Given the description of an element on the screen output the (x, y) to click on. 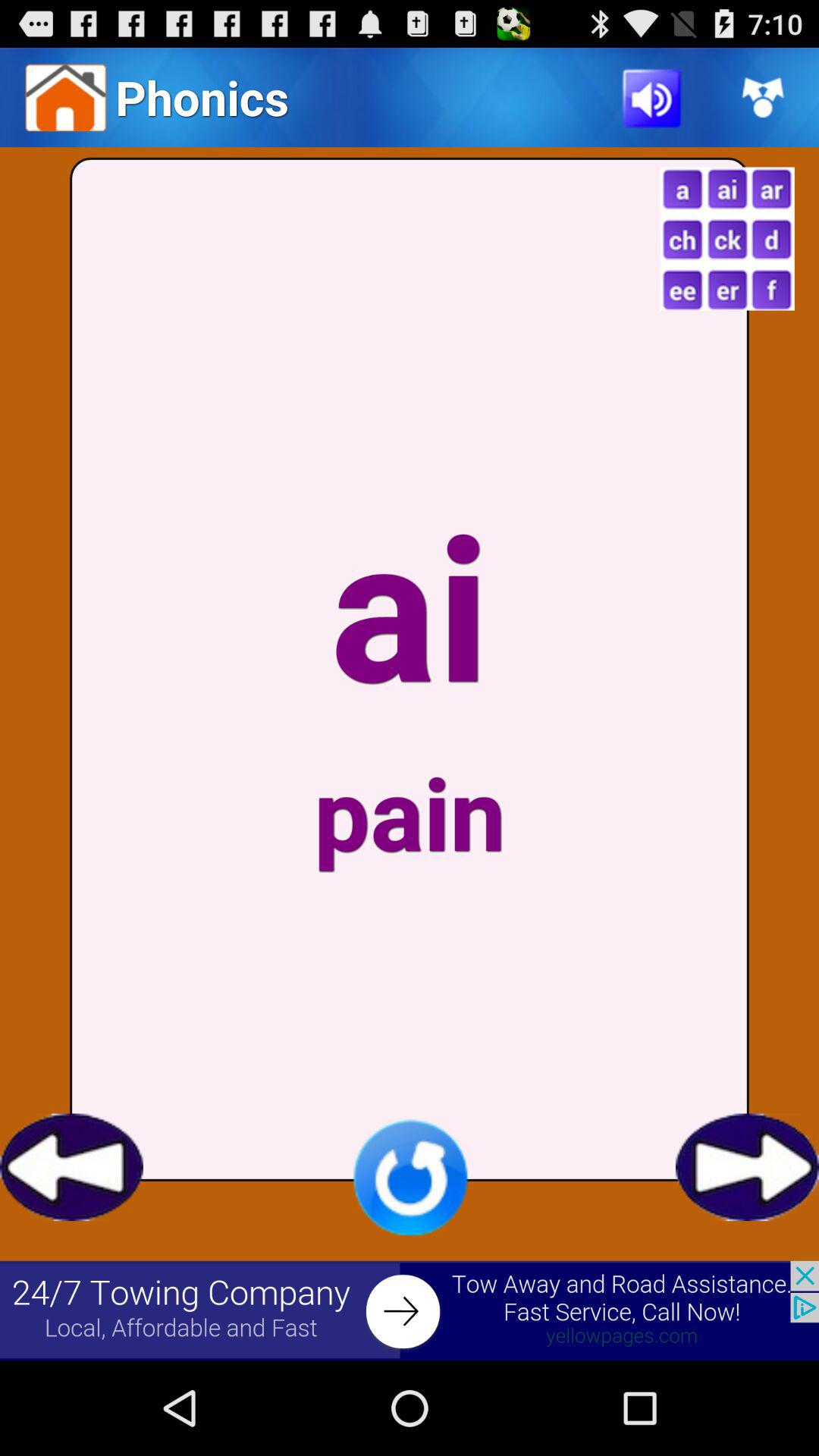
go forward (747, 1167)
